Given the description of an element on the screen output the (x, y) to click on. 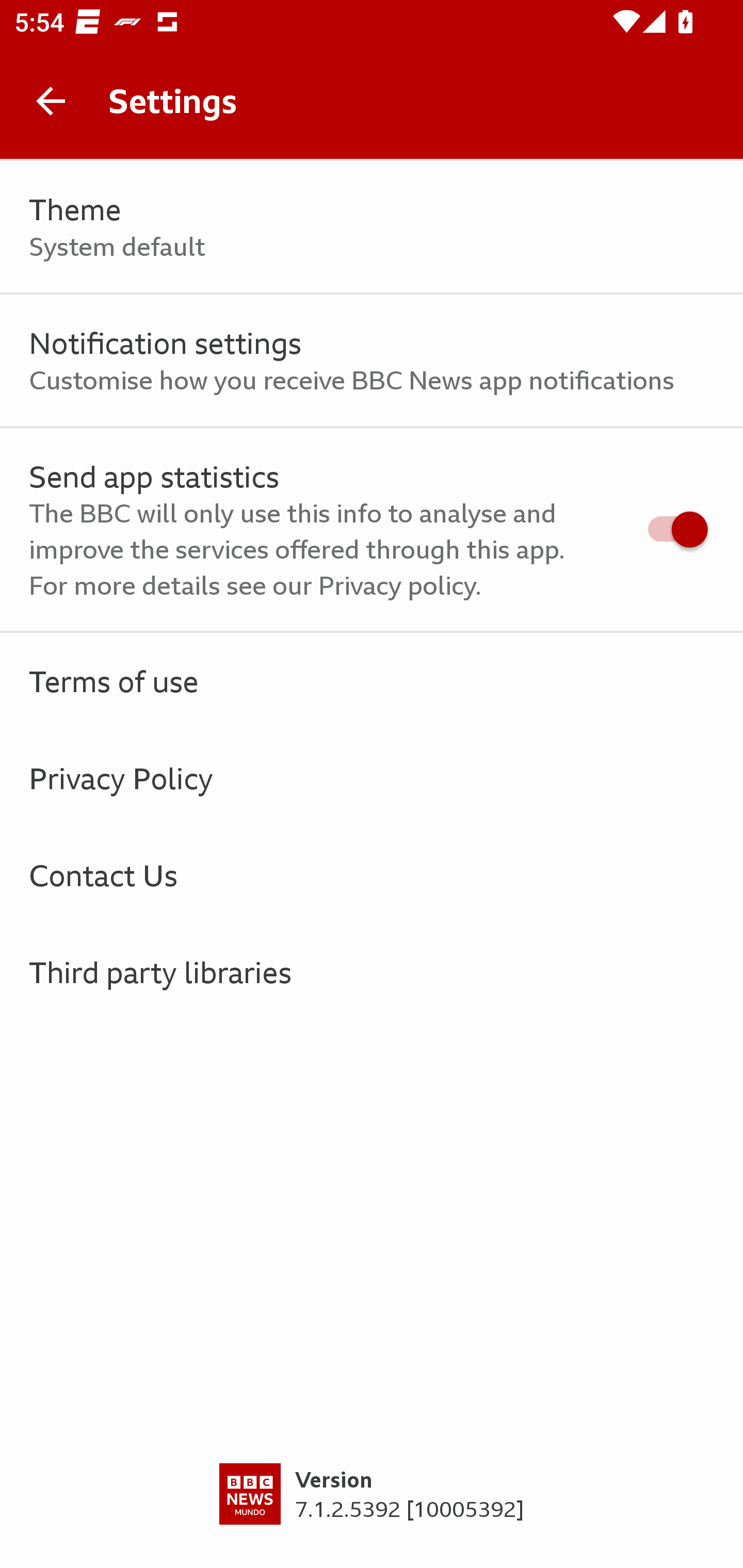
Back (50, 101)
Theme System default (371, 227)
Terms of use (371, 681)
Privacy Policy (371, 777)
Contact Us (371, 874)
Third party libraries (371, 971)
Version 7.1.2.5392 [10005392] (371, 1515)
